Given the description of an element on the screen output the (x, y) to click on. 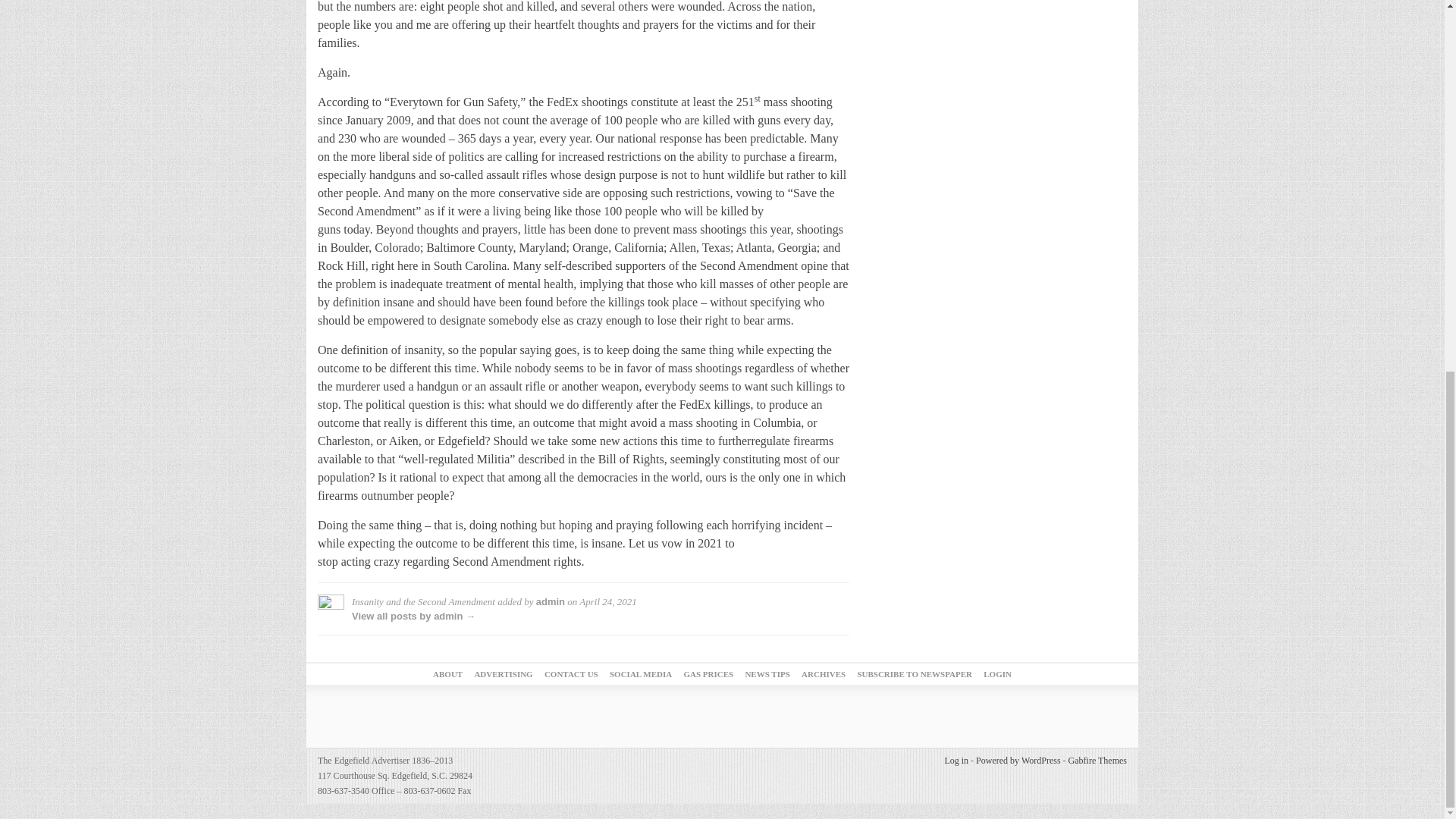
ARCHIVES (823, 673)
GAS PRICES (707, 673)
LOGIN (997, 673)
Semantic Personal Publishing Platform (1017, 760)
CONTACT US (571, 673)
SOCIAL MEDIA (640, 673)
admin (549, 601)
WordPress Newspaper Themes (1097, 760)
NEWS TIPS (766, 673)
ABOUT (447, 673)
